Given the description of an element on the screen output the (x, y) to click on. 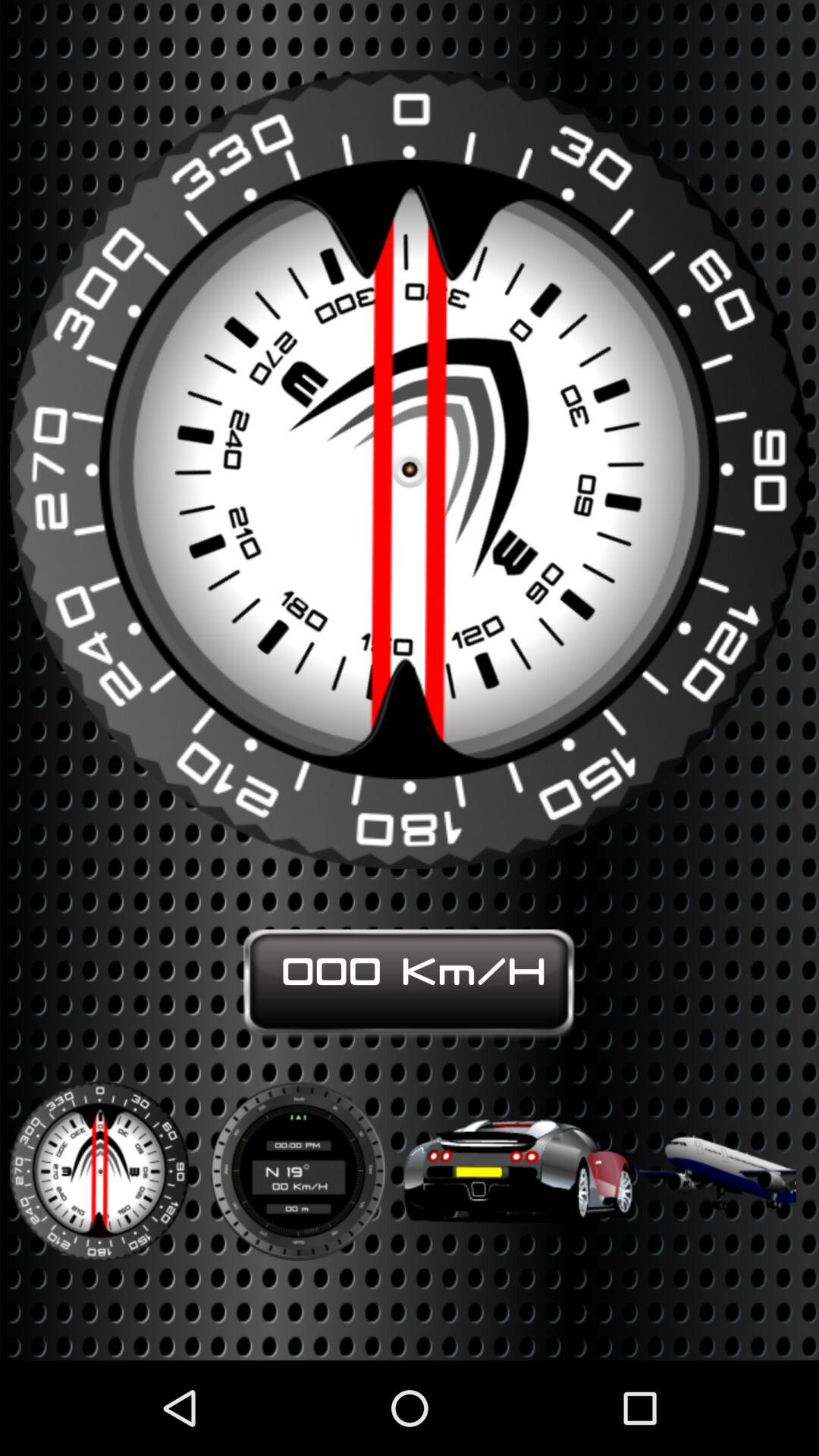
turn on the item at the bottom right corner (715, 1160)
